Given the description of an element on the screen output the (x, y) to click on. 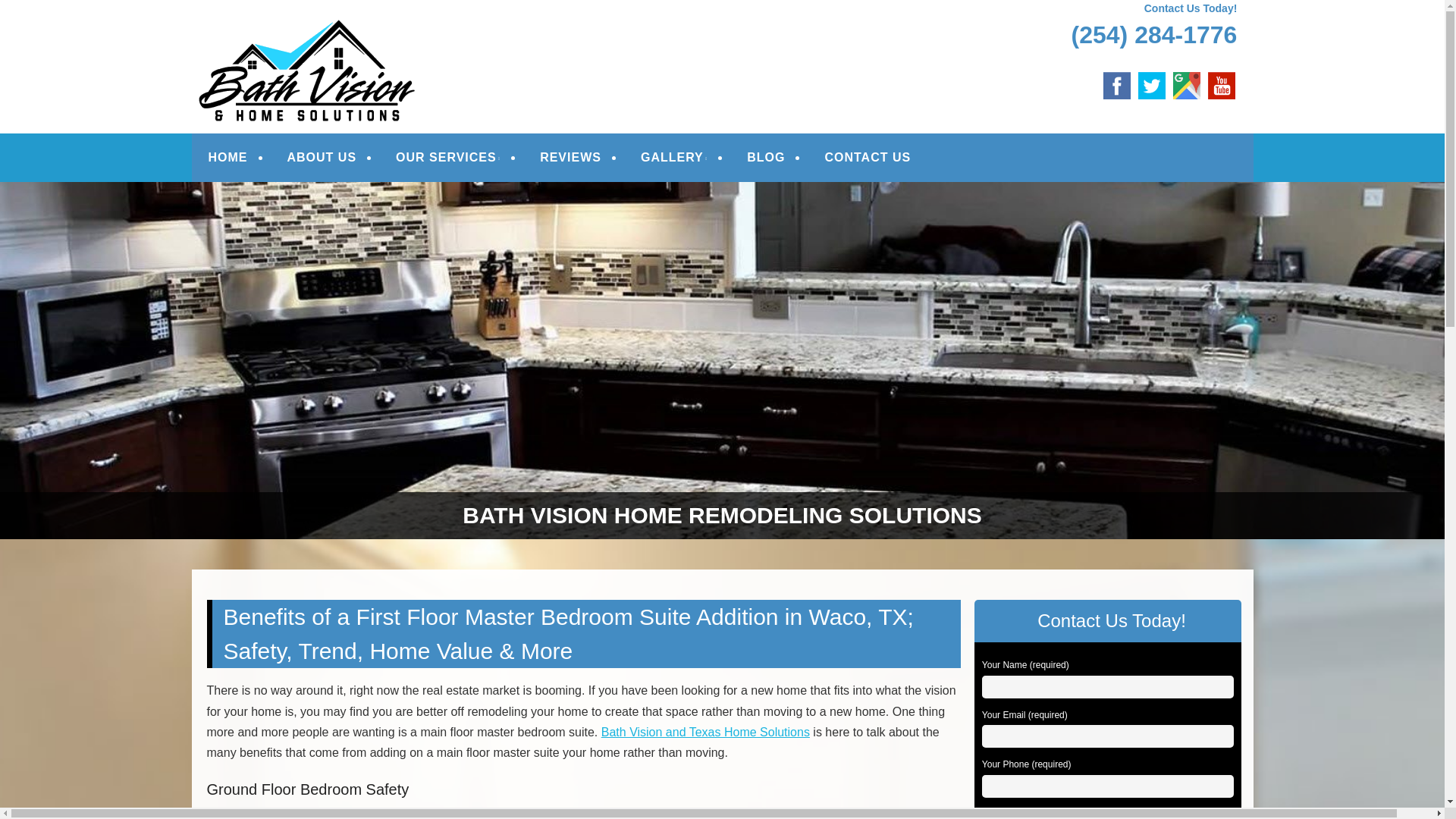
HOME (227, 157)
Bath Vision and Texas Home Solutions (705, 731)
BATH VISION HOME REMODELING SOLUTIONS (531, 32)
GALLERY (673, 157)
BLOG (765, 157)
ABOUT US (321, 157)
REVIEWS (570, 157)
CONTACT US (867, 157)
OUR SERVICES (448, 157)
Bath Vision Home Remodeling Solutions (531, 32)
